Given the description of an element on the screen output the (x, y) to click on. 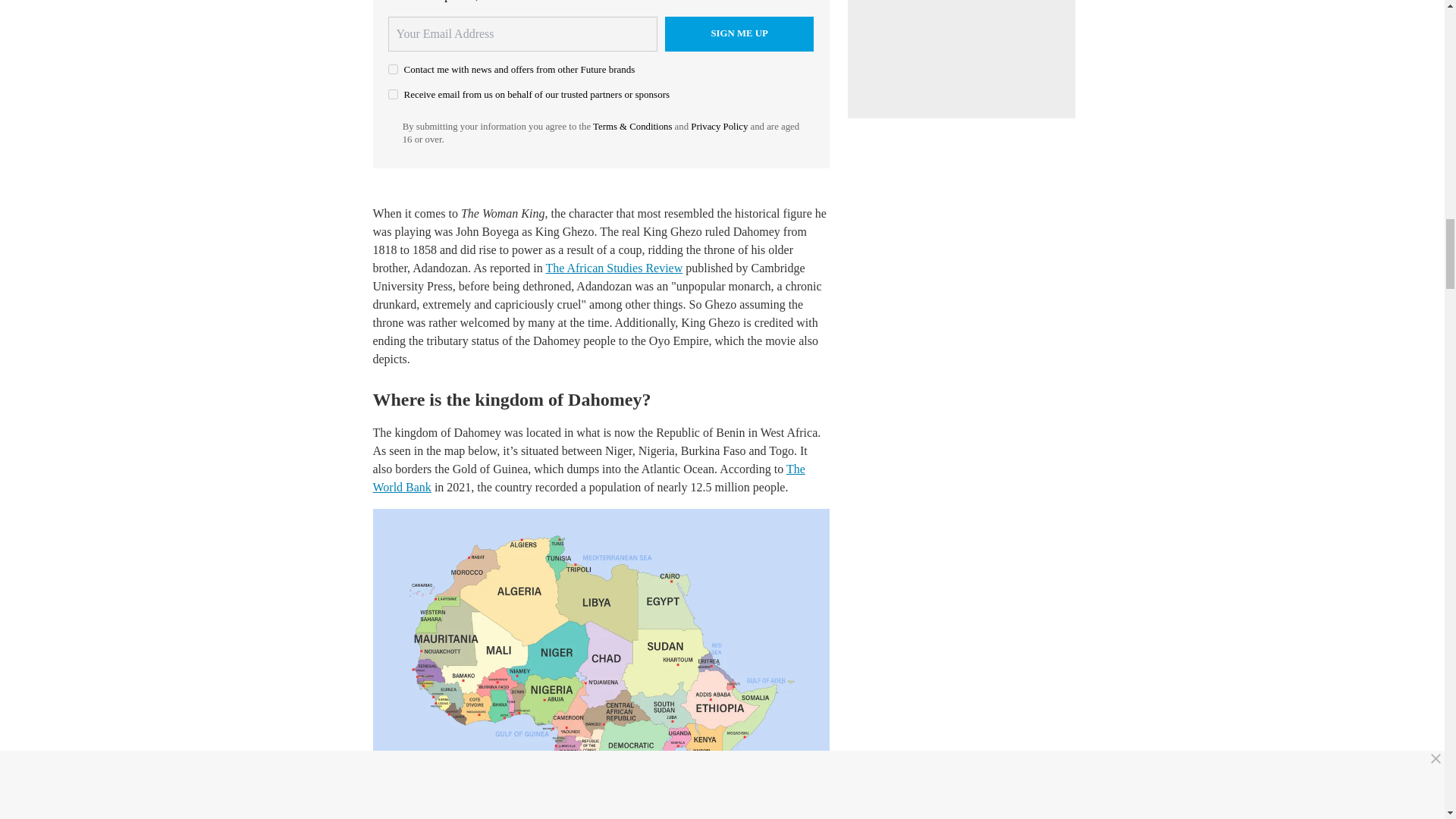
on (392, 69)
Sign me up (739, 33)
on (392, 94)
